Given the description of an element on the screen output the (x, y) to click on. 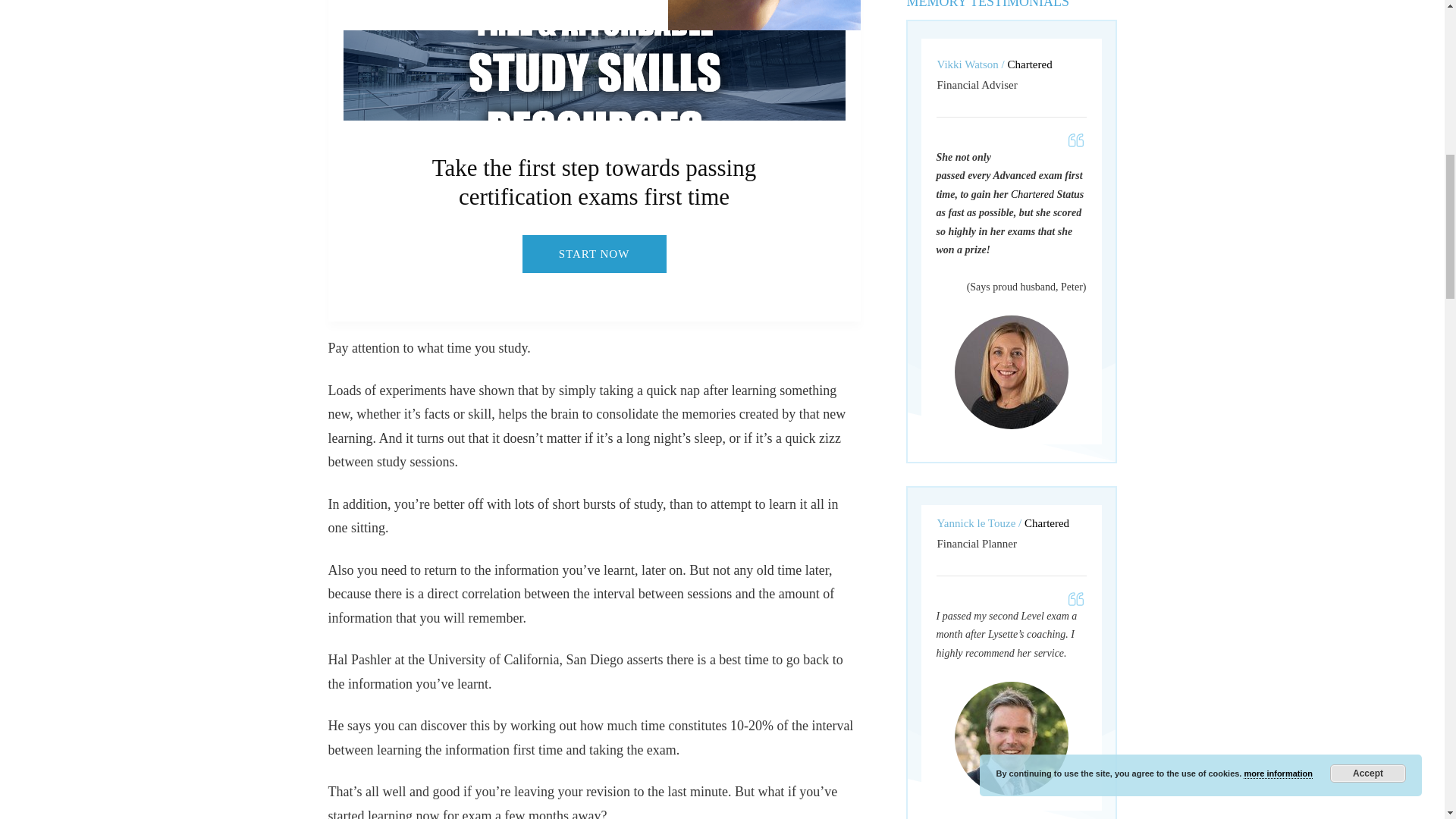
START NOW (593, 253)
Yannick Le Touze (1010, 738)
Vikki Watson (1010, 372)
